Given the description of an element on the screen output the (x, y) to click on. 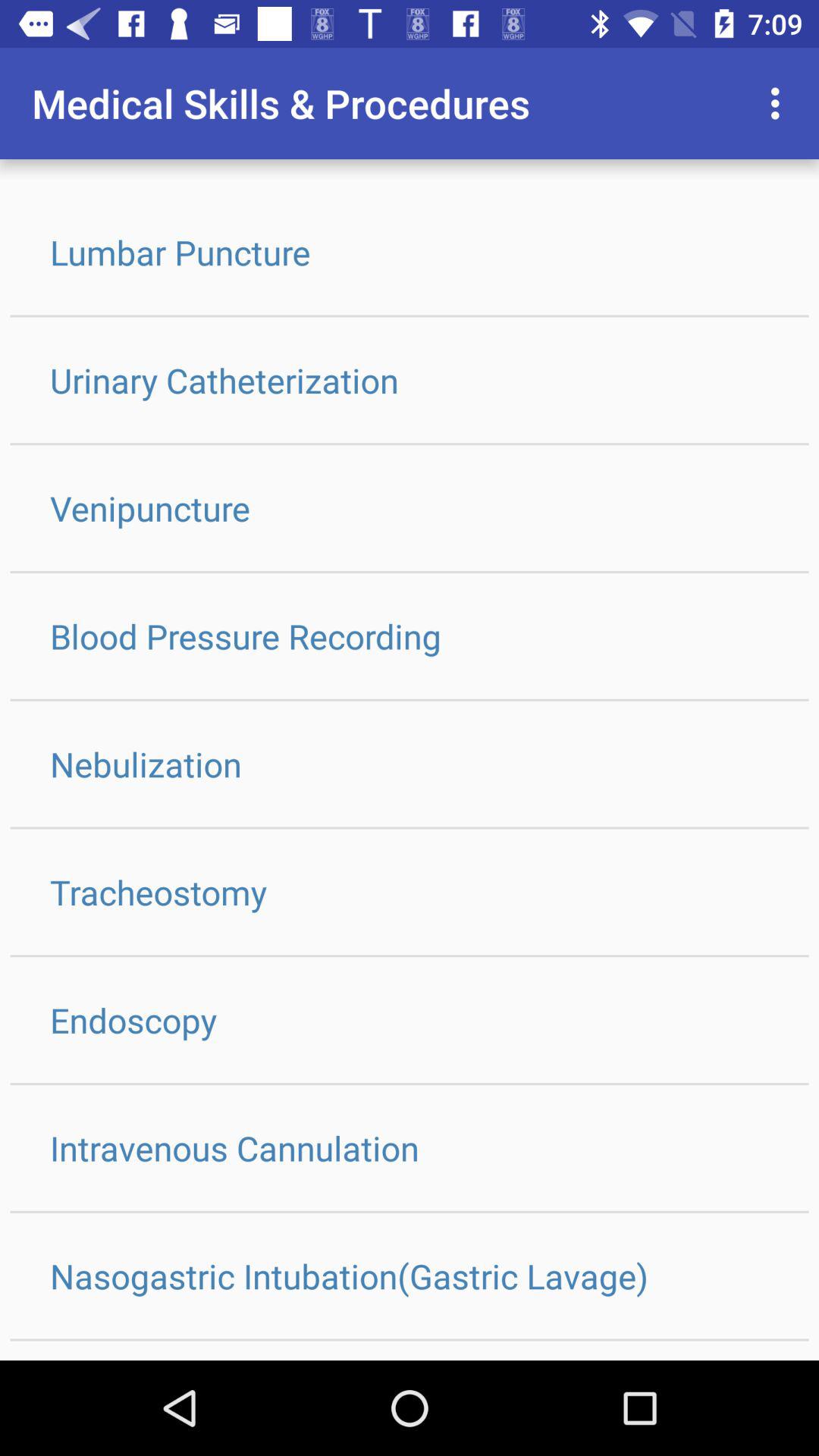
click the endoscopy item (409, 1019)
